Given the description of an element on the screen output the (x, y) to click on. 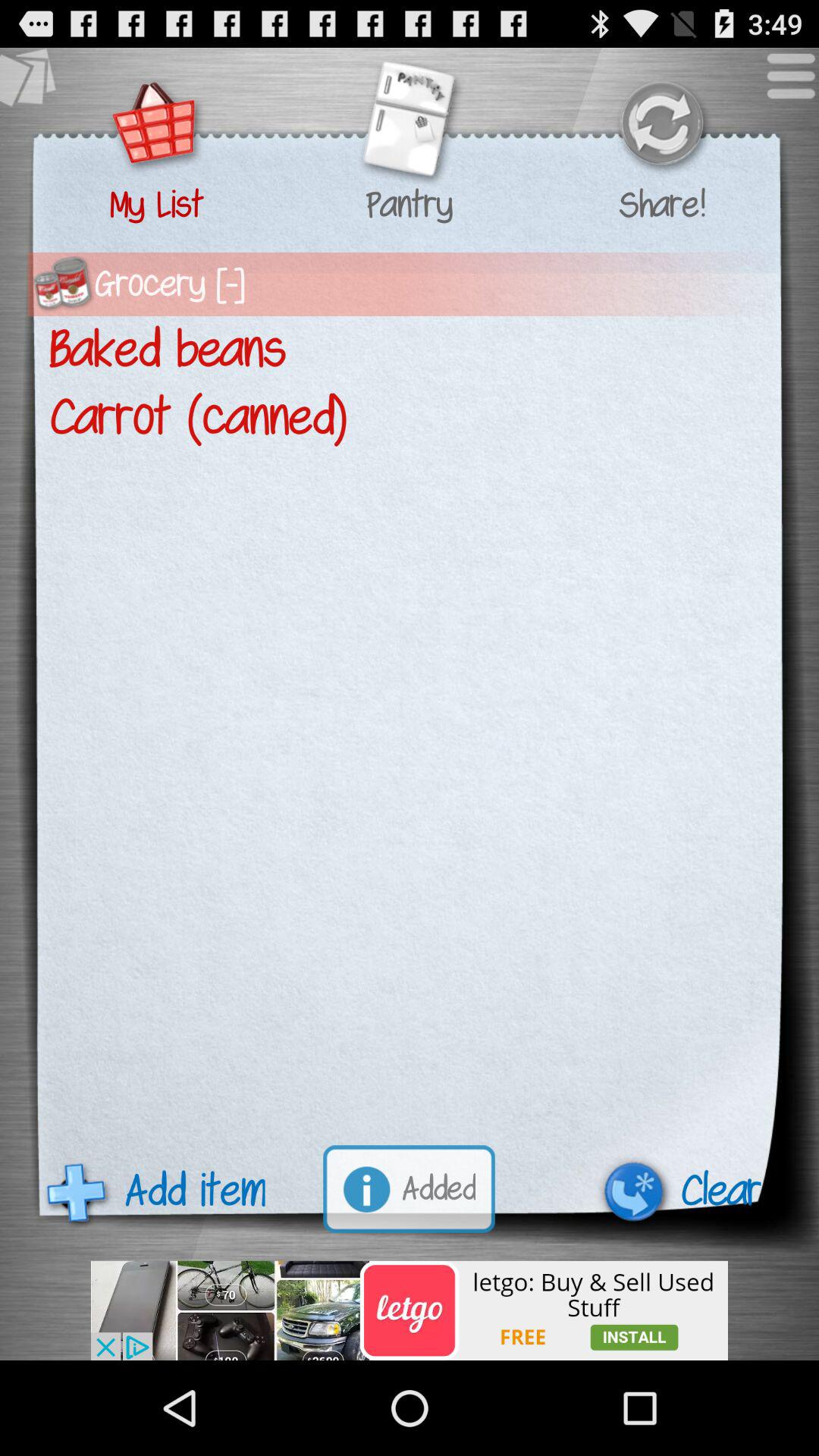
select pantry option button (408, 125)
